Given the description of an element on the screen output the (x, y) to click on. 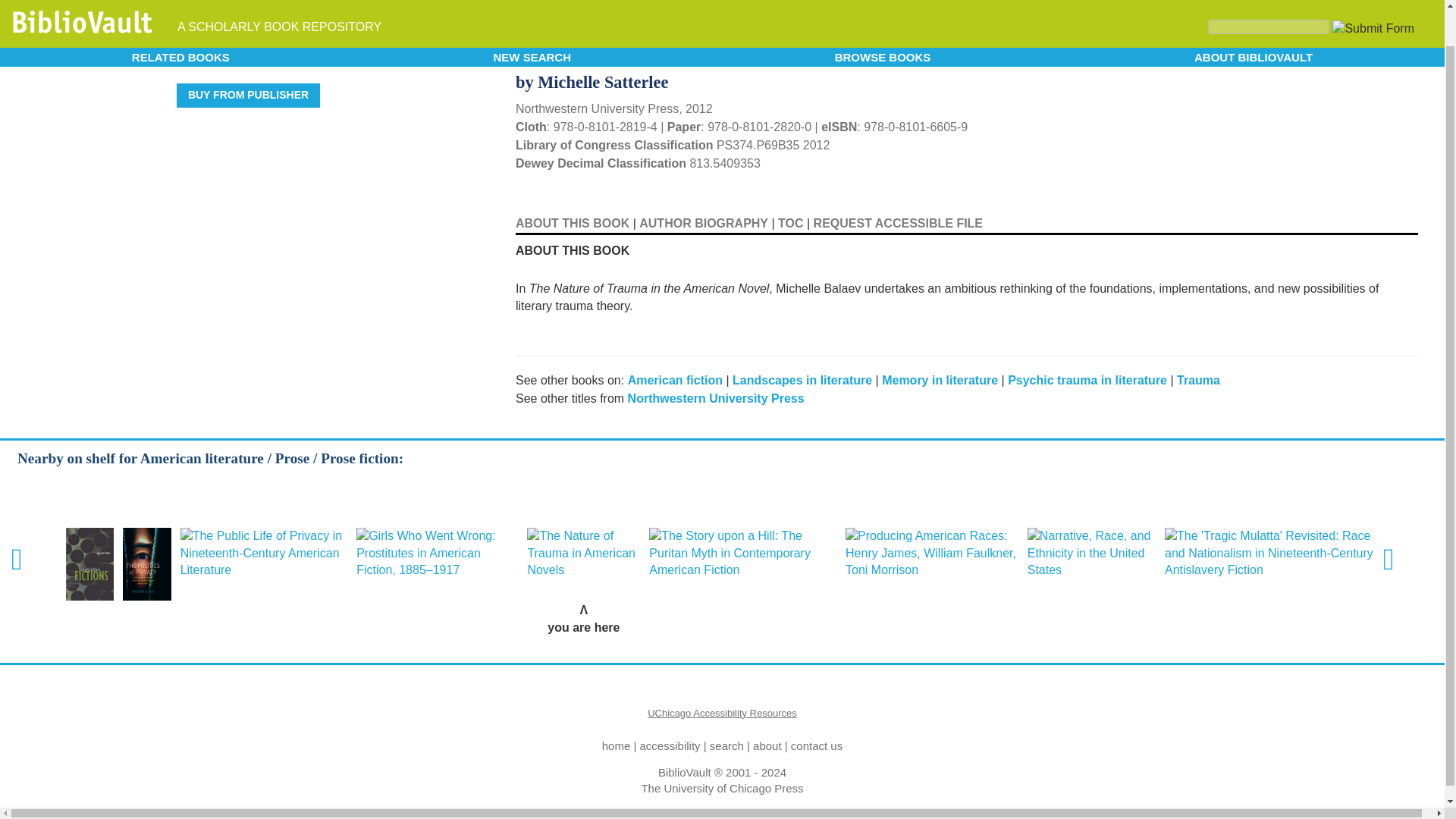
American fiction (674, 379)
BROWSE BOOKS (882, 18)
Landscapes in literature (802, 379)
BUY FROM PUBLISHER (248, 95)
Share on Facebook (1384, 52)
Send as an email (1404, 49)
ABOUT BIBLIOVAULT (1253, 18)
NEW SEARCH (532, 18)
RELATED BOOKS (180, 18)
